Given the description of an element on the screen output the (x, y) to click on. 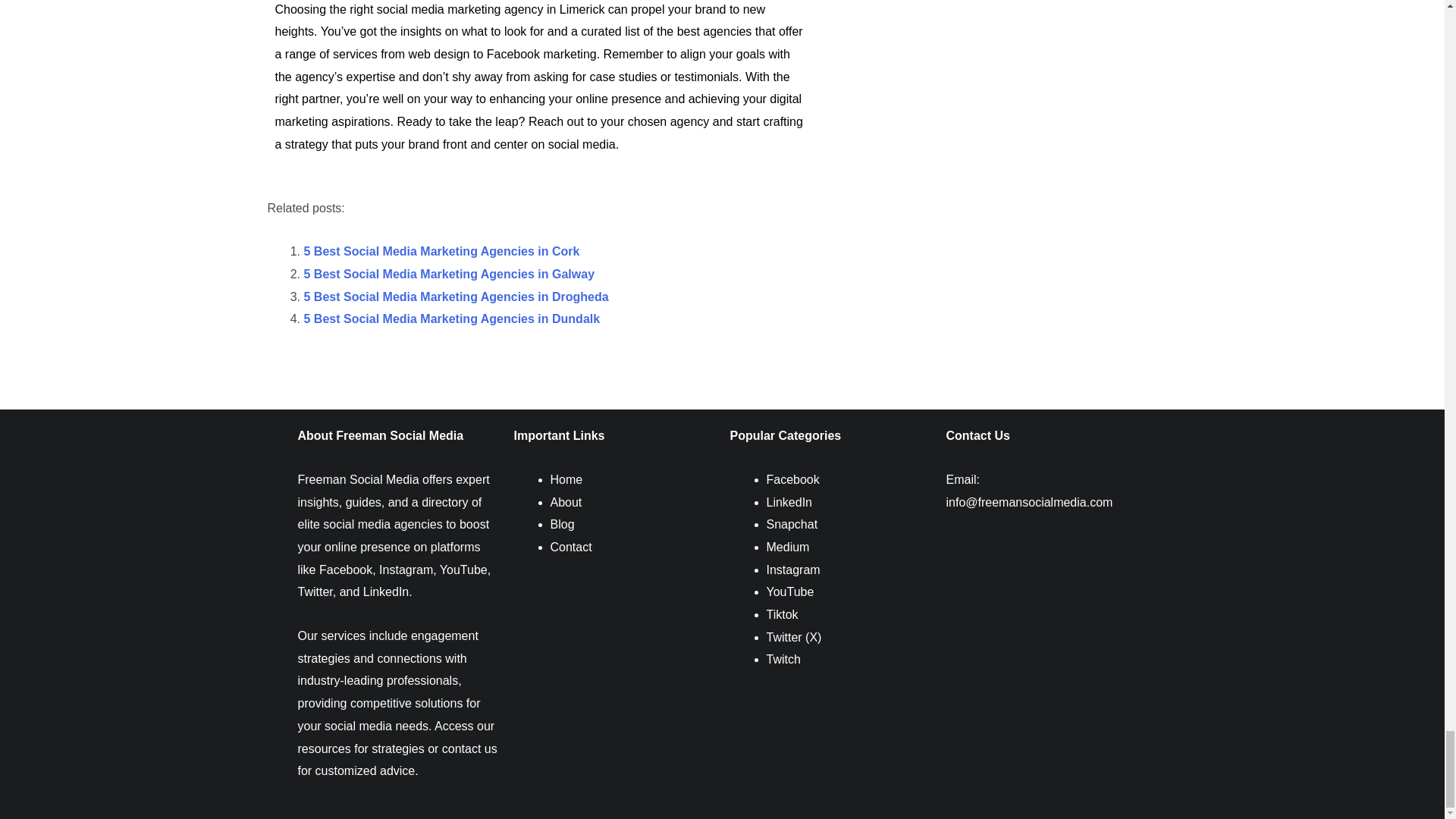
5 Best Social Media Marketing Agencies in Dundalk (450, 318)
5 Best Social Media Marketing Agencies in Galway (448, 273)
5 Best Social Media Marketing Agencies in Cork (440, 250)
5 Best Social Media Marketing Agencies in Drogheda (455, 296)
